Given the description of an element on the screen output the (x, y) to click on. 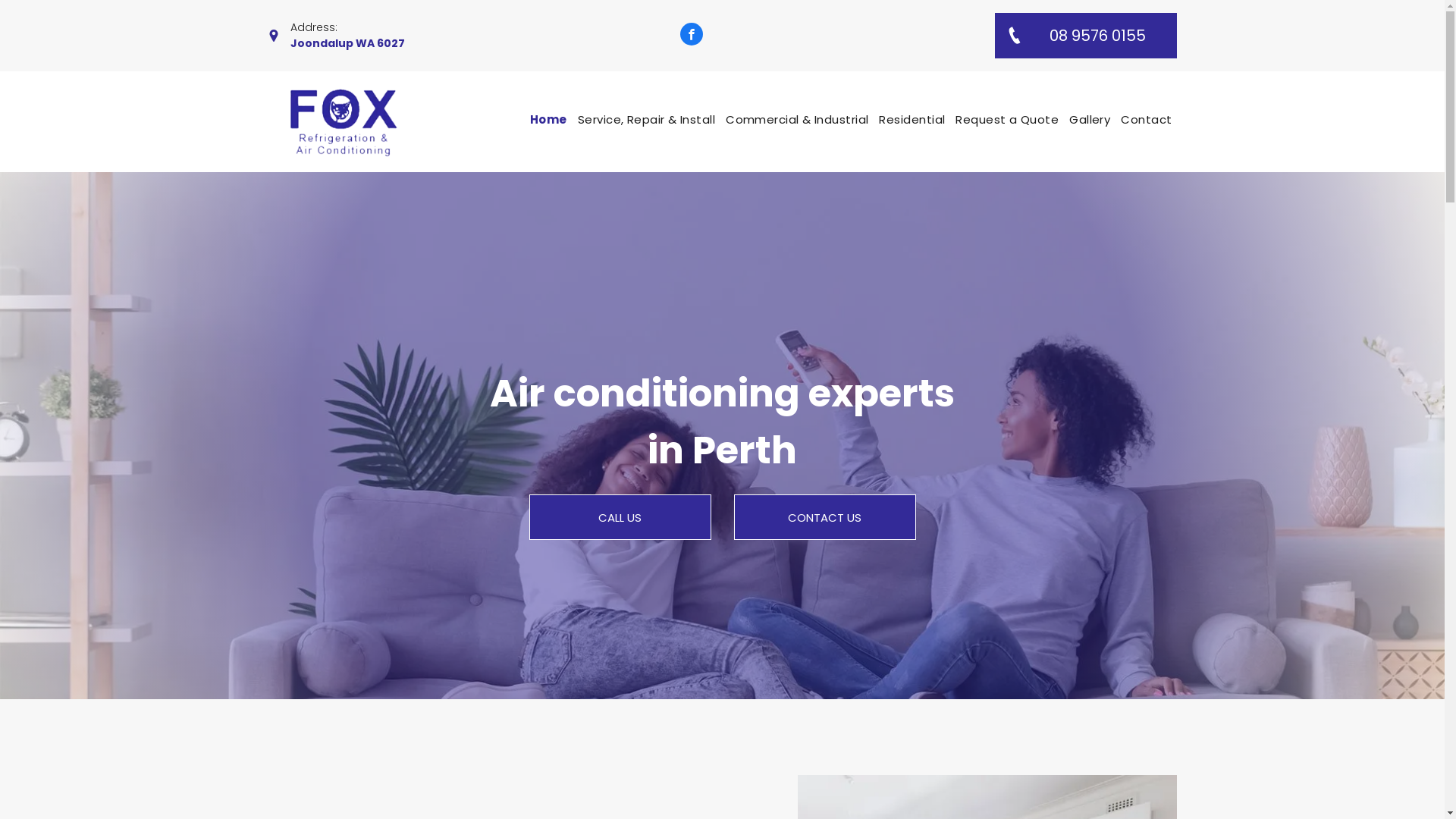
Request a Quote Element type: text (1006, 119)
08 9576 0155 Element type: text (1085, 35)
CALL US Element type: text (620, 516)
Gallery Element type: text (1089, 119)
CONTACT US Element type: text (825, 516)
Residential Element type: text (911, 119)
Home Element type: text (548, 119)
Joondalup WA 6027 Element type: text (346, 42)
Contact Element type: text (1145, 119)
Service, Repair & Install Element type: text (646, 119)
Commercial & Industrial Element type: text (796, 119)
Fox Refrigeration & Airconditioning Element type: hover (343, 121)
